Given the description of an element on the screen output the (x, y) to click on. 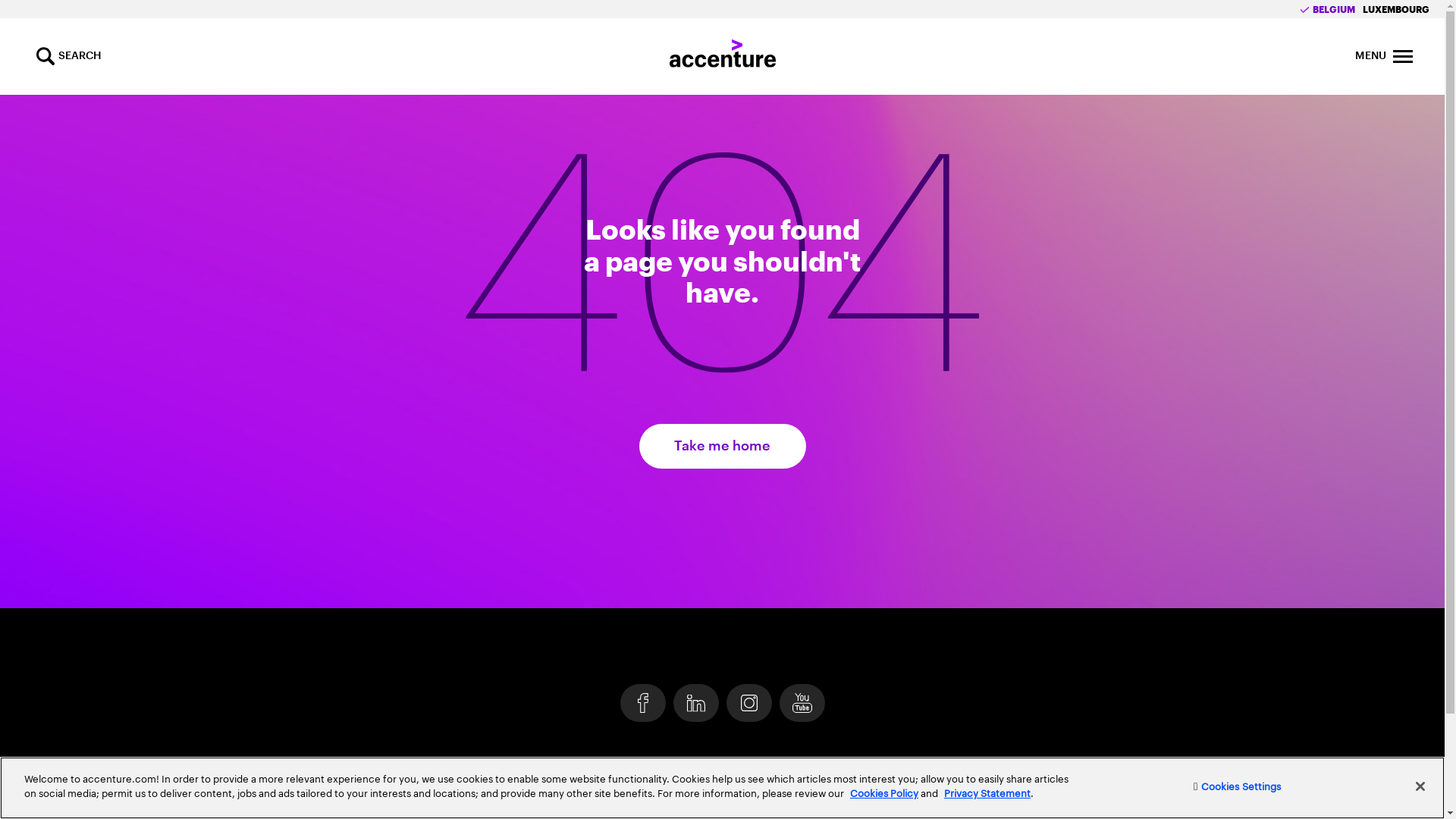
SEARCH Element type: text (45, 55)
Cookies Policy Element type: text (884, 793)
facebook Element type: text (642, 702)
MENU Element type: text (1402, 55)
LET THERE BE CHANGE Element type: text (722, 771)
youtube Element type: text (802, 702)
Cookies Settings Element type: text (1236, 786)
BELGIUM Element type: text (1327, 9)
Take me home Element type: text (721, 445)
instagram Element type: text (748, 702)
LUXEMBOURG Element type: text (1395, 9)
Privacy Statement Element type: text (987, 793)
linkedin Element type: text (695, 702)
